Given the description of an element on the screen output the (x, y) to click on. 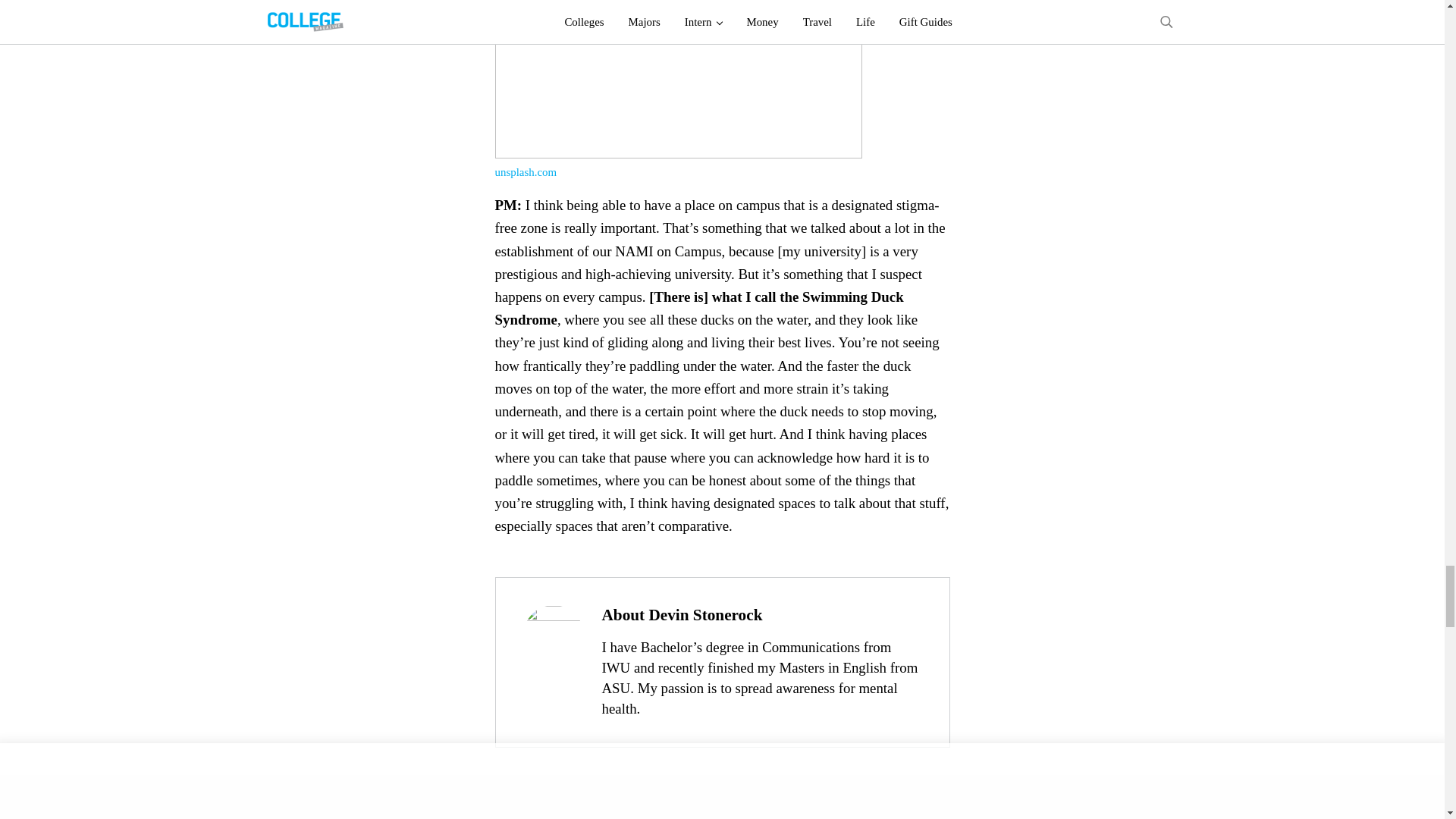
unsplash.com (525, 172)
